Given the description of an element on the screen output the (x, y) to click on. 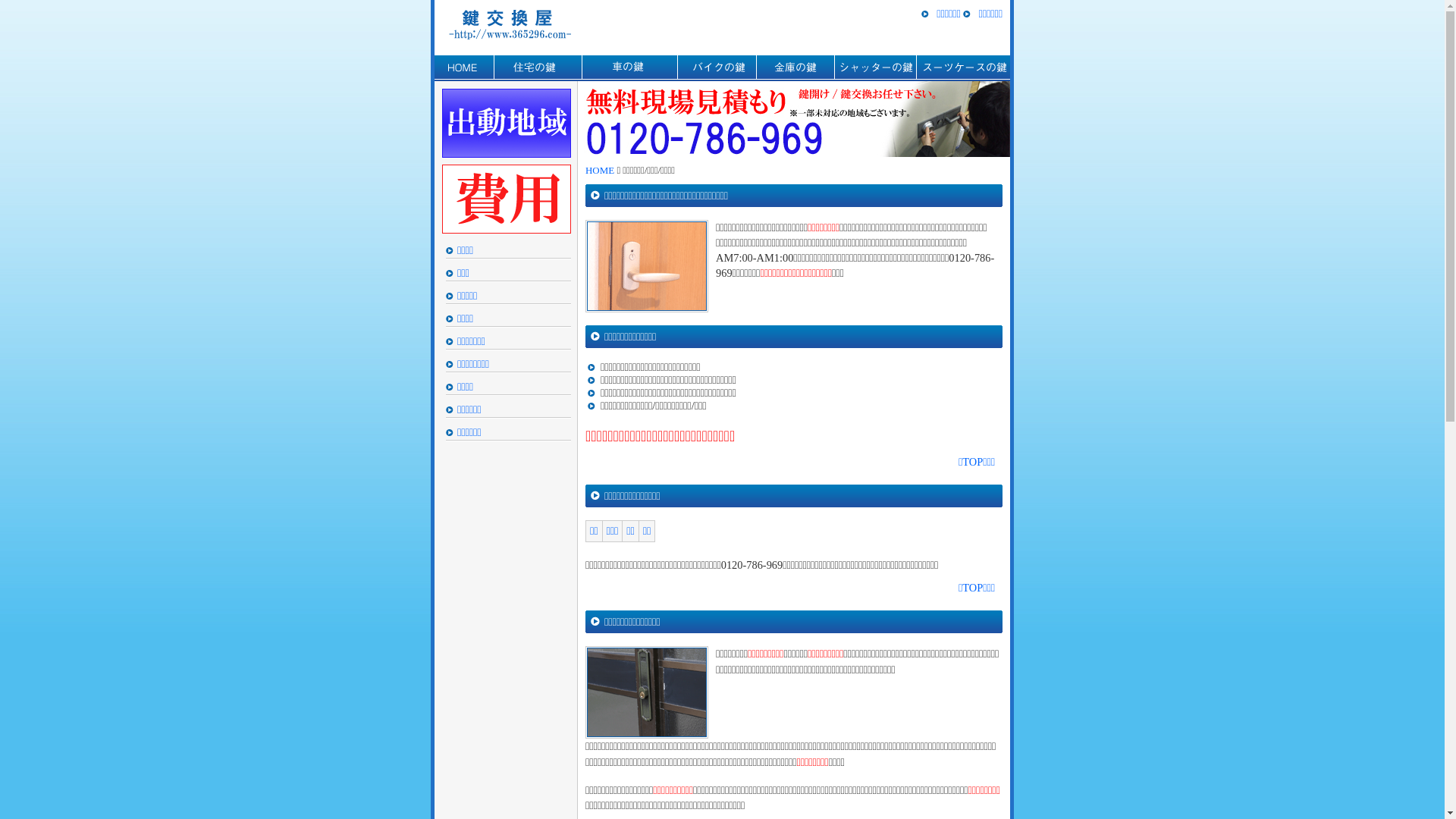
HOME Element type: text (599, 169)
HOME Element type: text (463, 68)
